Given the description of an element on the screen output the (x, y) to click on. 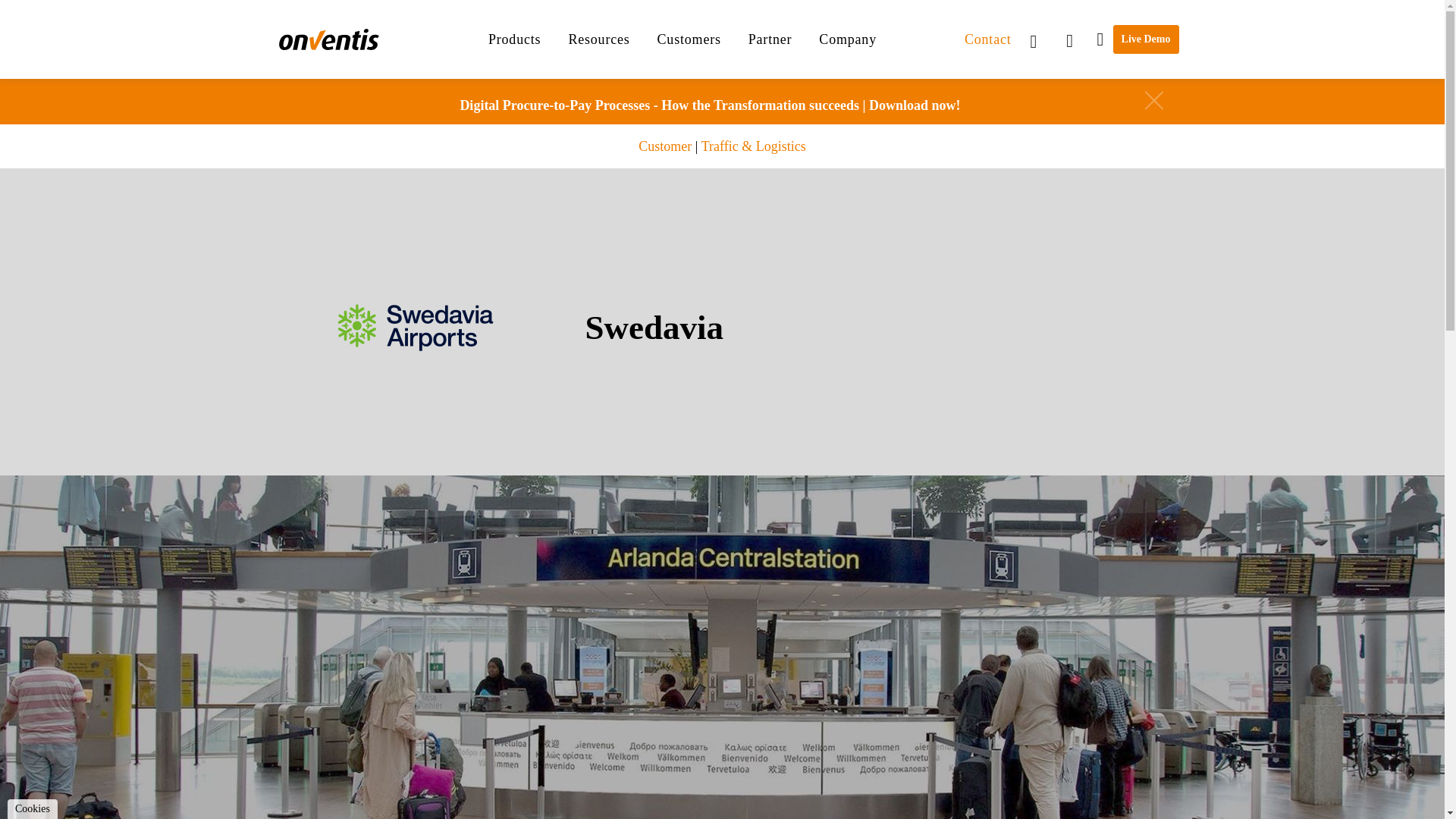
Products (514, 39)
English (1040, 38)
Resources (598, 39)
swedavia-logo (415, 327)
View all posts in Customer (665, 145)
